Given the description of an element on the screen output the (x, y) to click on. 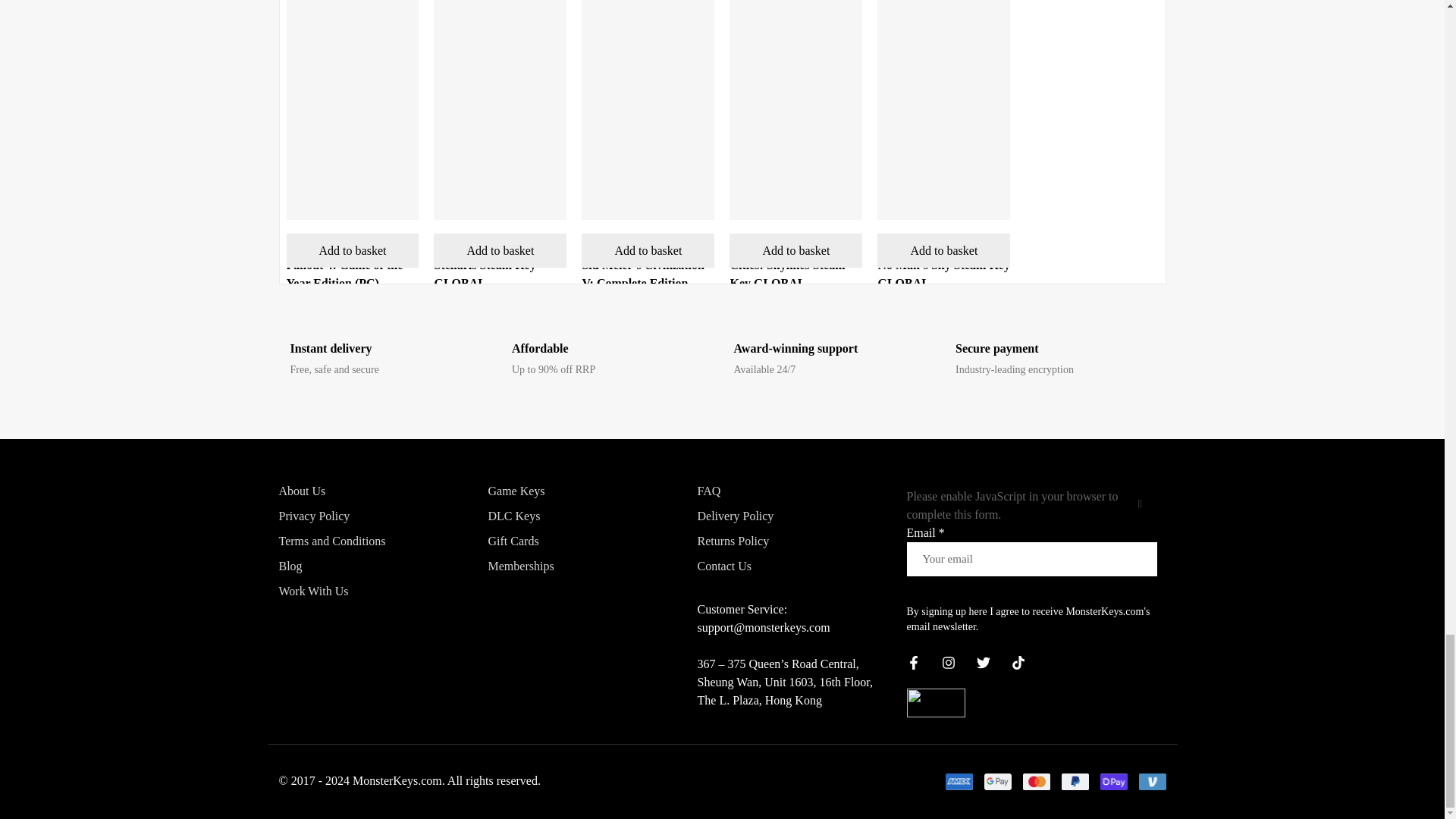
Add to basket (352, 250)
Add to basket (499, 250)
ECONOMY (603, 244)
Add to basket (647, 250)
RPG (295, 244)
SIMULATION (461, 244)
Stellaris Steam Key GLOBAL (484, 273)
